Given the description of an element on the screen output the (x, y) to click on. 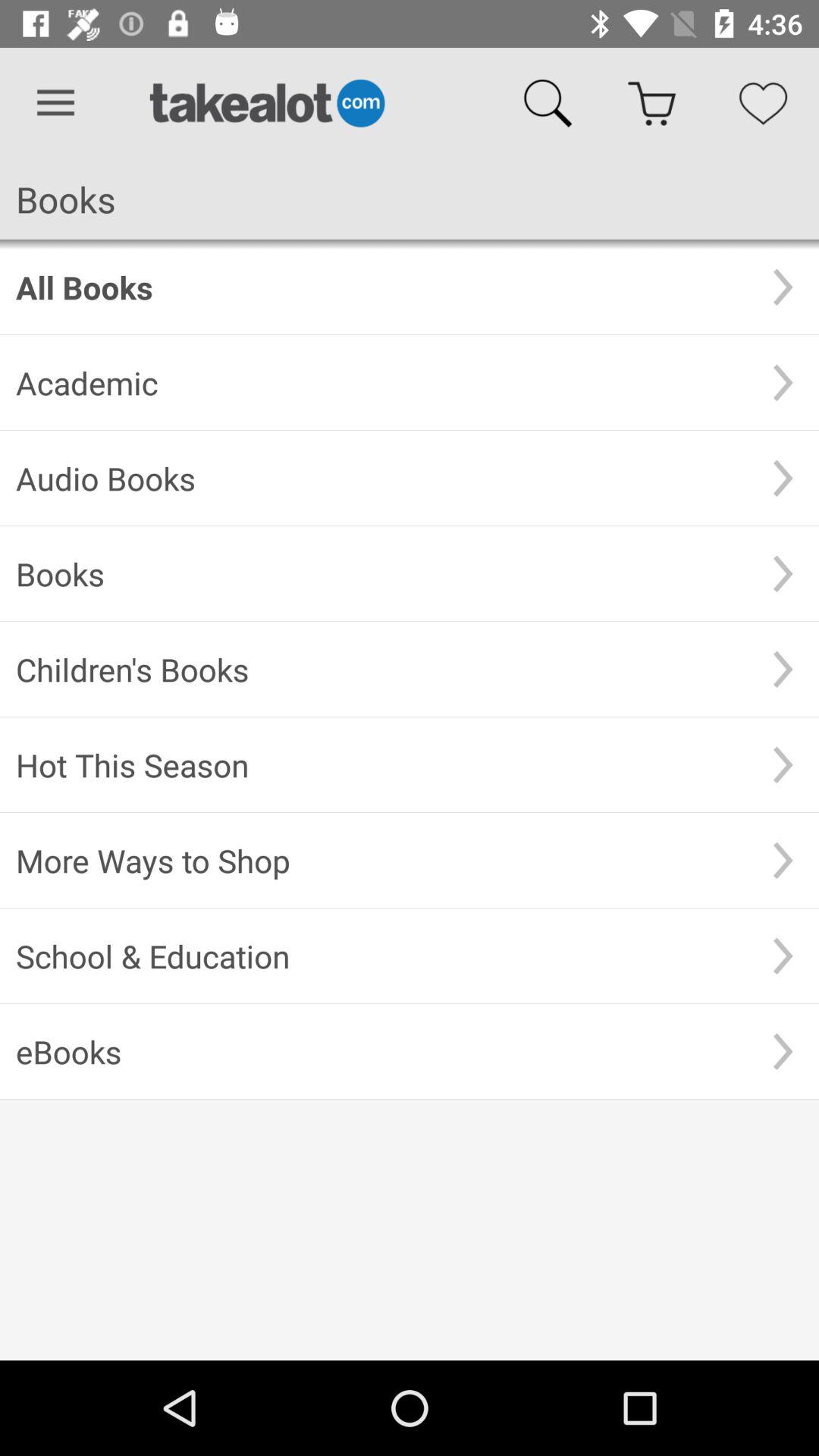
select the item above audio books icon (381, 382)
